Given the description of an element on the screen output the (x, y) to click on. 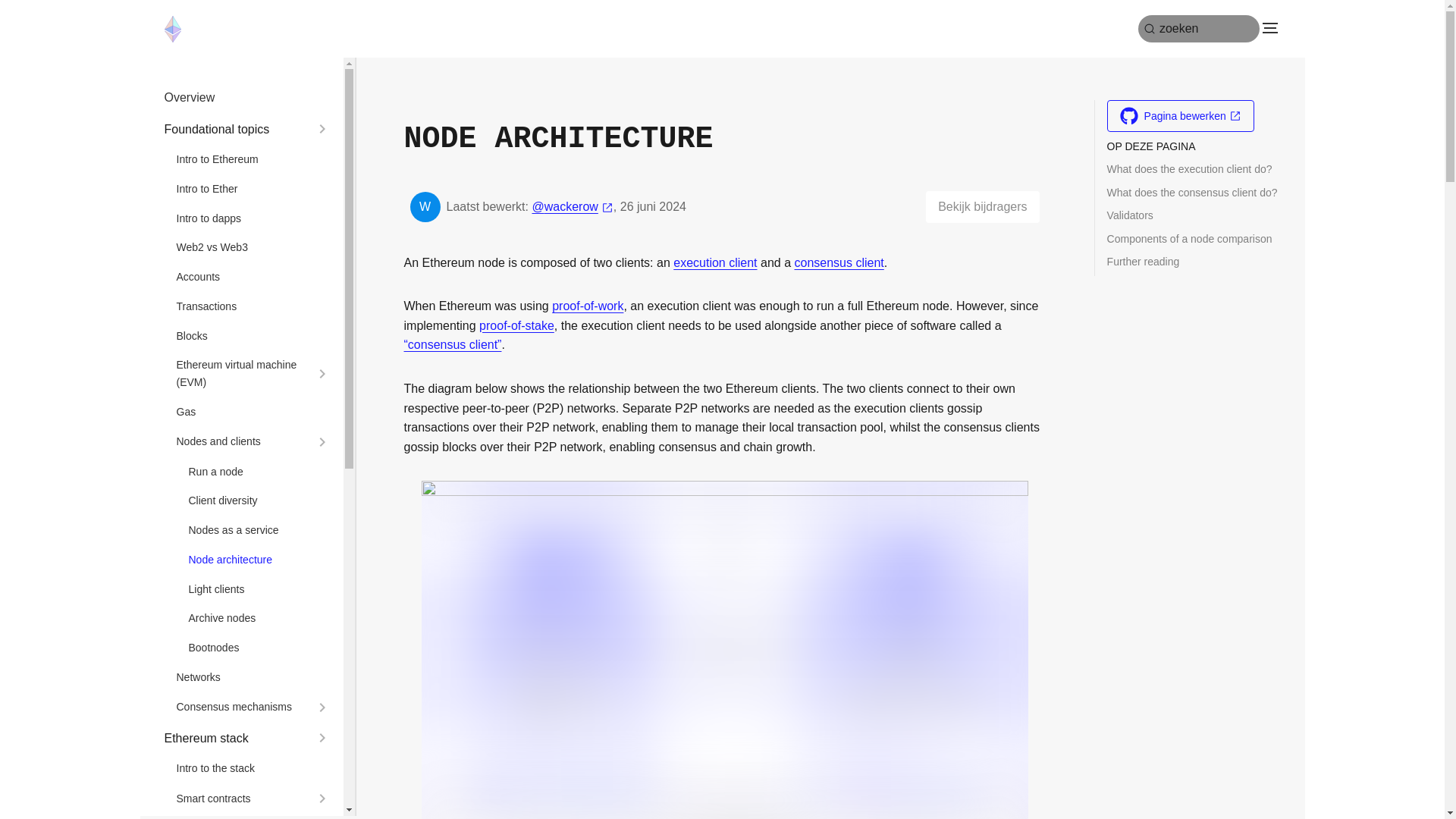
zoeken (1198, 28)
Run a node (258, 471)
Light clients (258, 589)
Client diversity (258, 500)
Nodes and clients (240, 441)
Intro to Ethereum (253, 159)
Networks (253, 677)
Archive nodes (258, 618)
Overview (246, 97)
Blocks (253, 335)
